Given the description of an element on the screen output the (x, y) to click on. 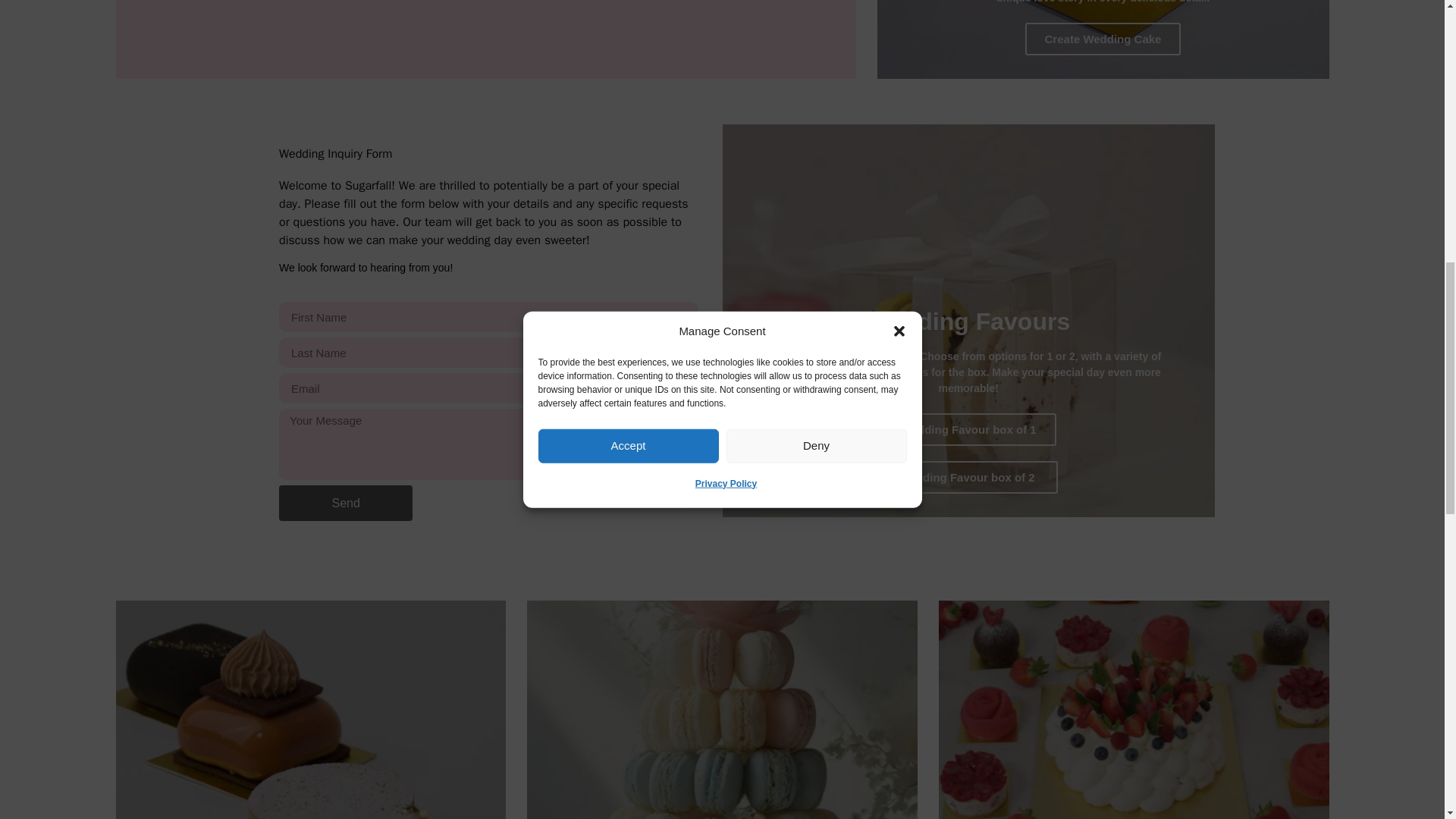
Wedding Favour box of 2 (968, 477)
Create Wedding Cake (1102, 39)
Wedding Favour box of 1 (968, 429)
Send (345, 502)
